Given the description of an element on the screen output the (x, y) to click on. 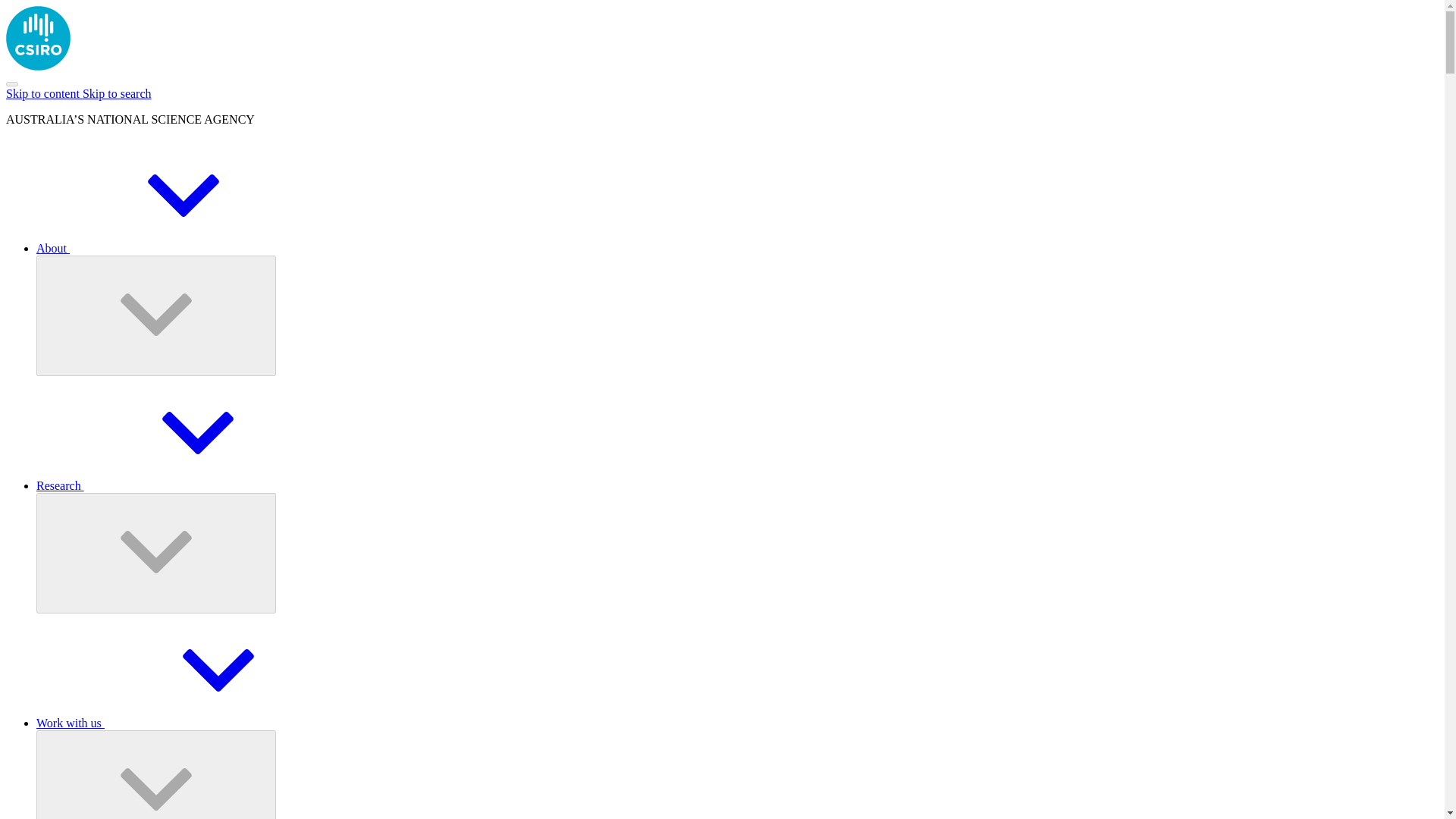
Skip to search (116, 92)
Skip to content (43, 92)
